Given the description of an element on the screen output the (x, y) to click on. 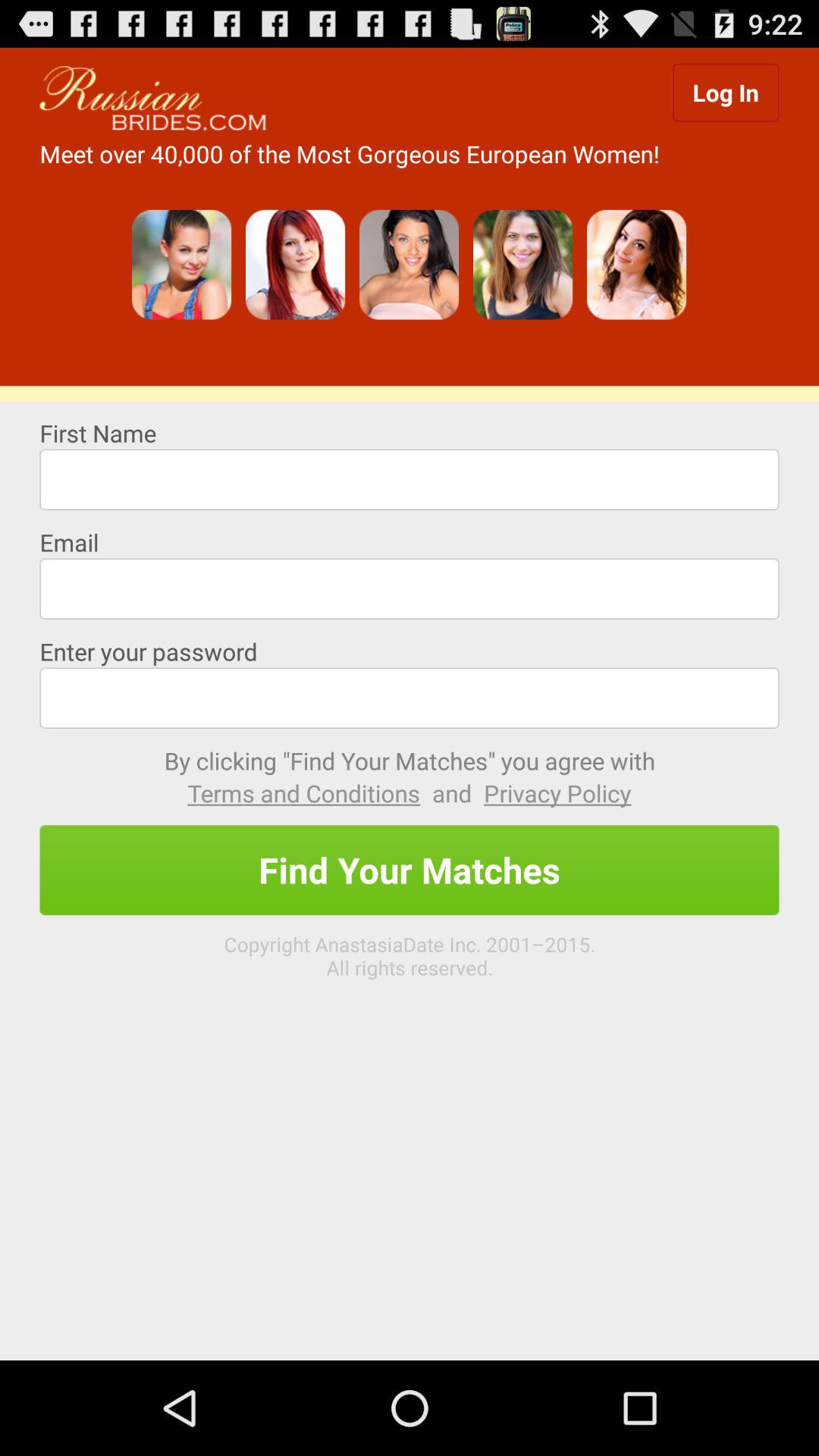
password text field (409, 697)
